Given the description of an element on the screen output the (x, y) to click on. 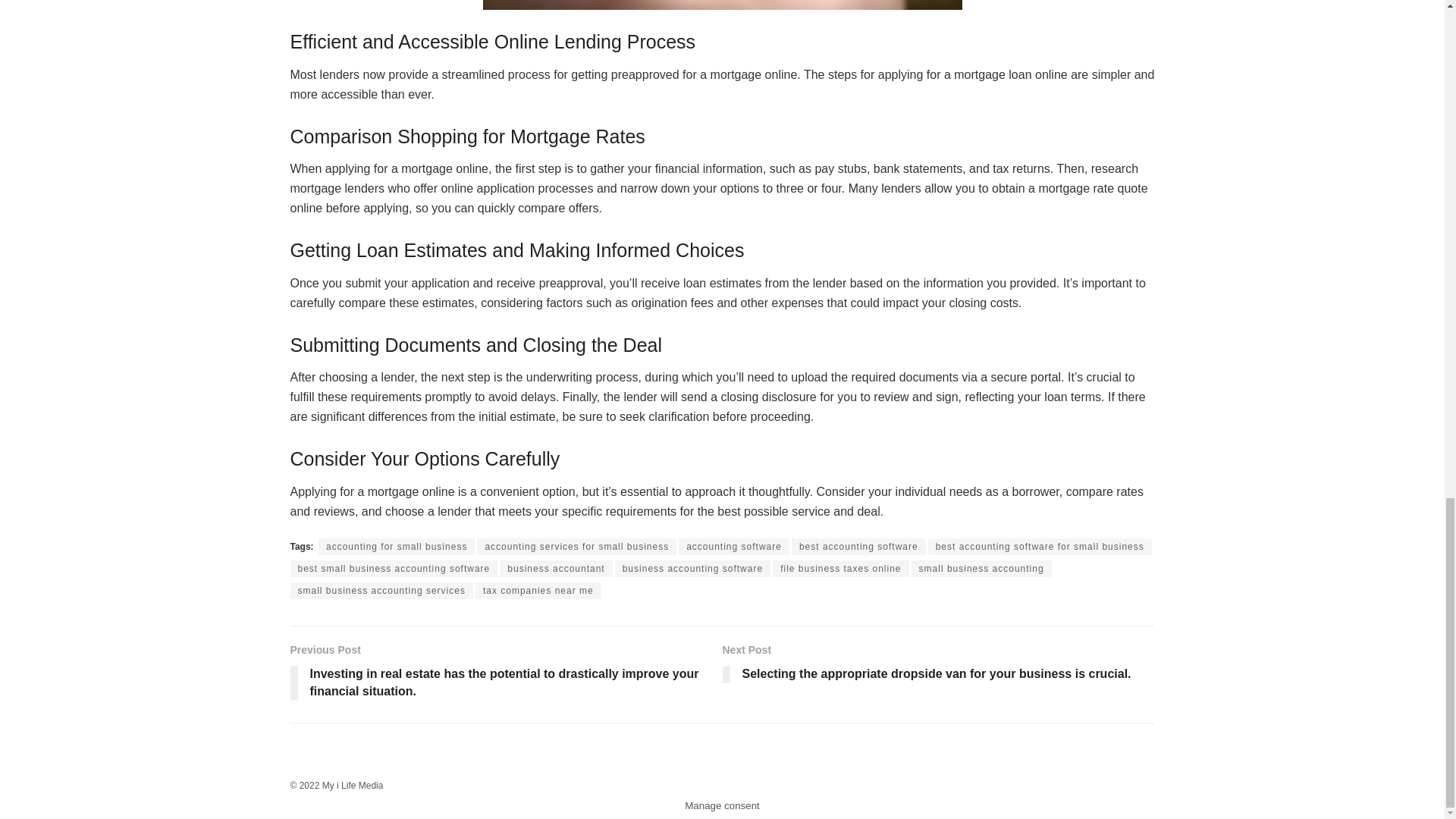
accounting for small business (396, 546)
Image by mastersenaiper from Pixabay (720, 4)
